Given the description of an element on the screen output the (x, y) to click on. 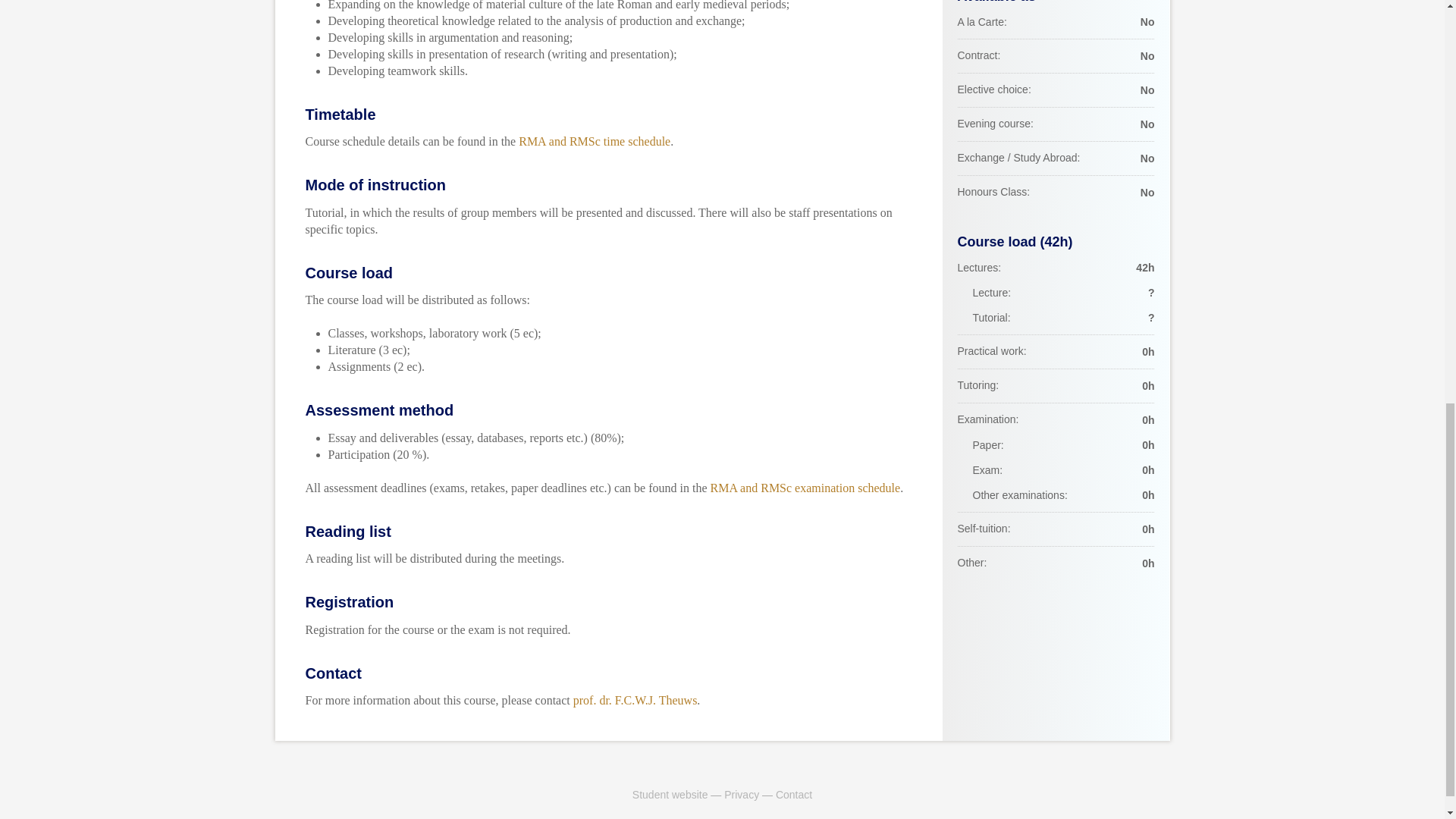
Contact (794, 794)
prof. dr. F.C.W.J. Theuws (635, 699)
Privacy (740, 794)
Student website (669, 794)
RMA and RMSc examination schedule (805, 486)
RMA and RMSc time schedule (593, 141)
